Given the description of an element on the screen output the (x, y) to click on. 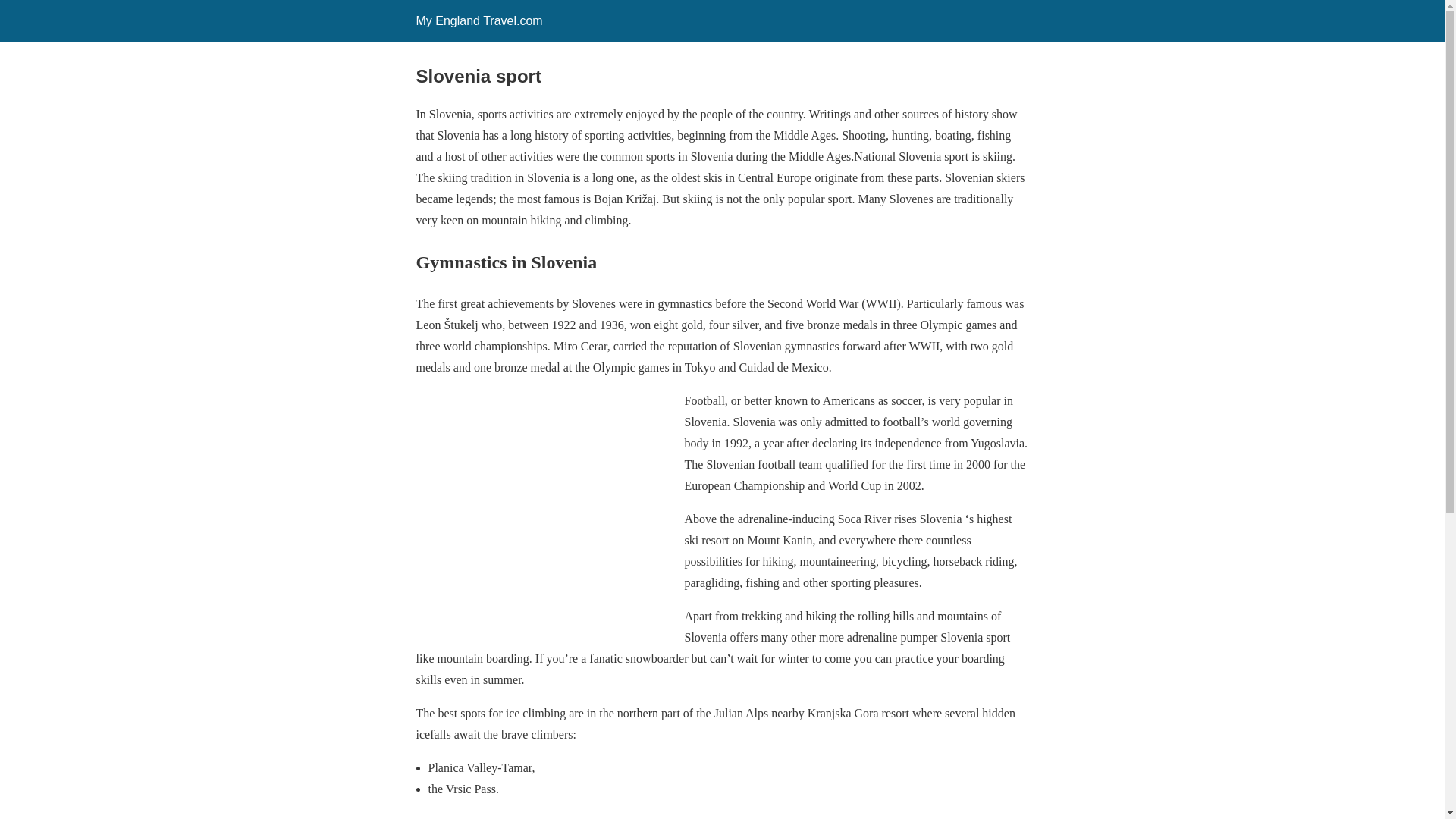
My England Travel.com (477, 20)
